Given the description of an element on the screen output the (x, y) to click on. 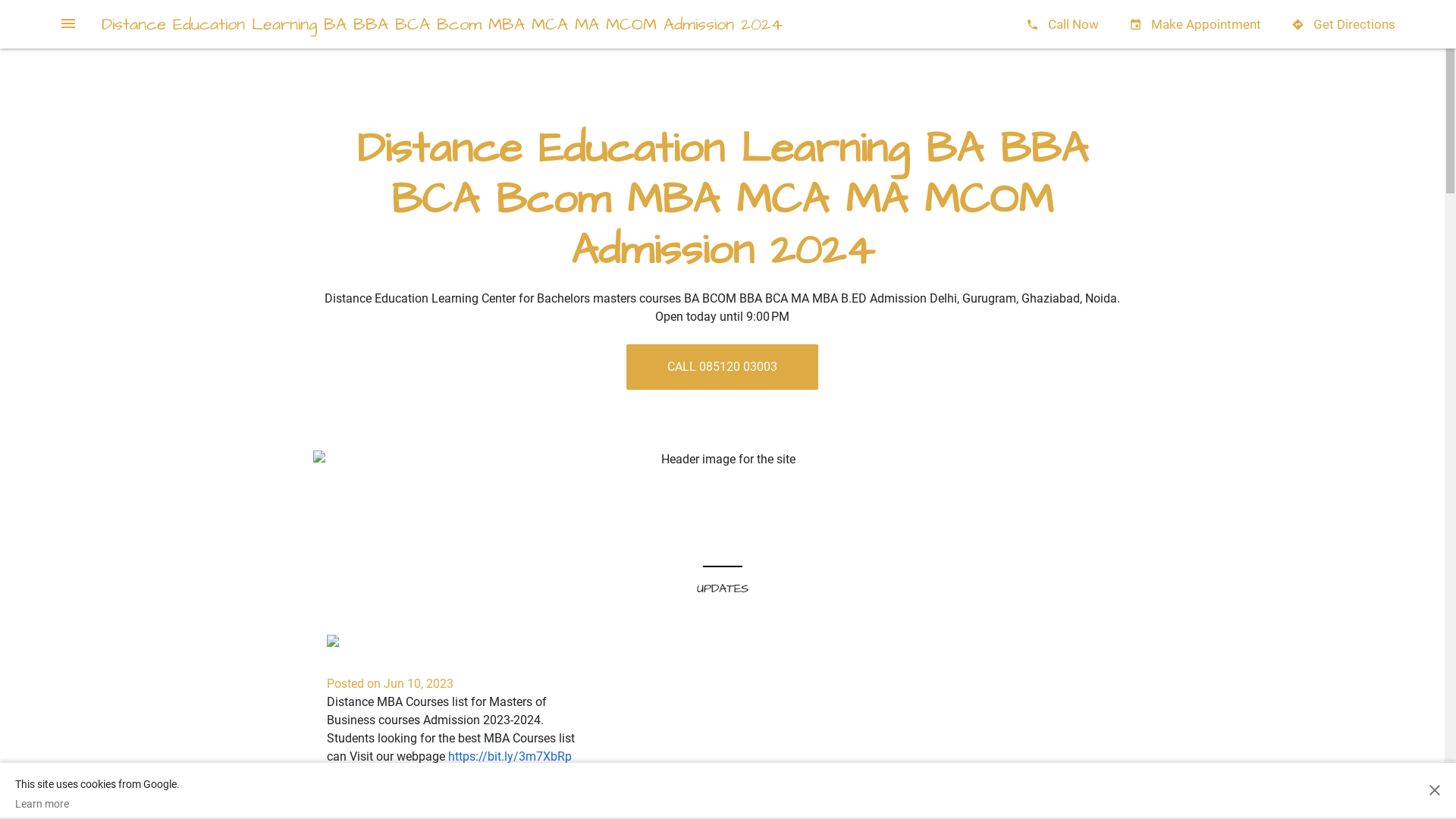
CALL 085120 03003 Element type: text (722, 366)
Learn more Element type: text (97, 803)
https://bit.ly/3m7XbRp Element type: text (509, 756)
Posted on Jun 10, 2023 Element type: text (389, 683)
